Given the description of an element on the screen output the (x, y) to click on. 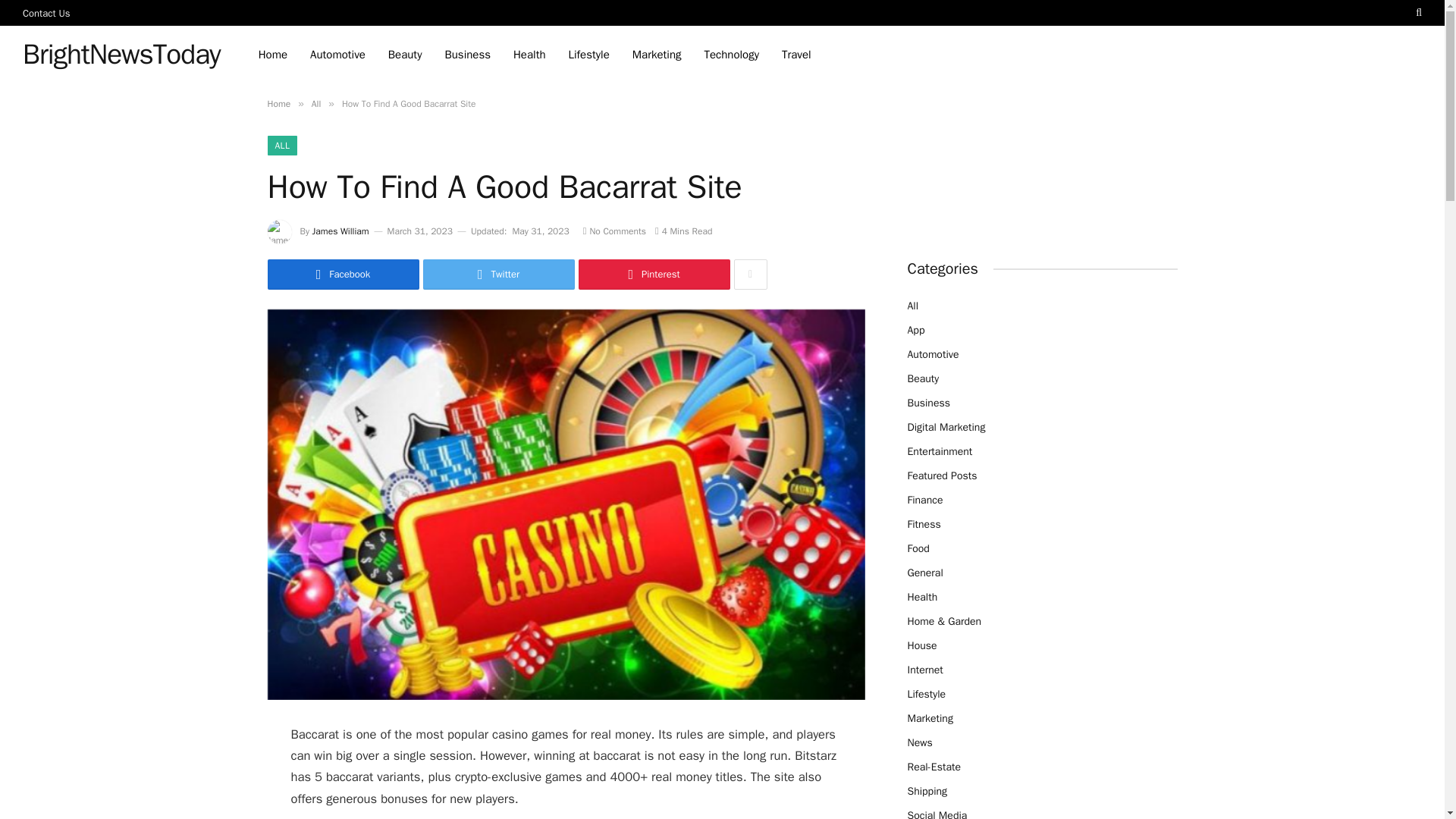
No Comments (614, 231)
Travel (796, 54)
Contact Us (46, 12)
Business (467, 54)
Posts by James William (341, 231)
Home (272, 54)
Health (529, 54)
Lifestyle (589, 54)
Share on Facebook (342, 274)
BrightNewsToday (122, 54)
Share on Twitter (499, 274)
James William (341, 231)
Share on Pinterest (653, 274)
Home (277, 103)
Pinterest (653, 274)
